Given the description of an element on the screen output the (x, y) to click on. 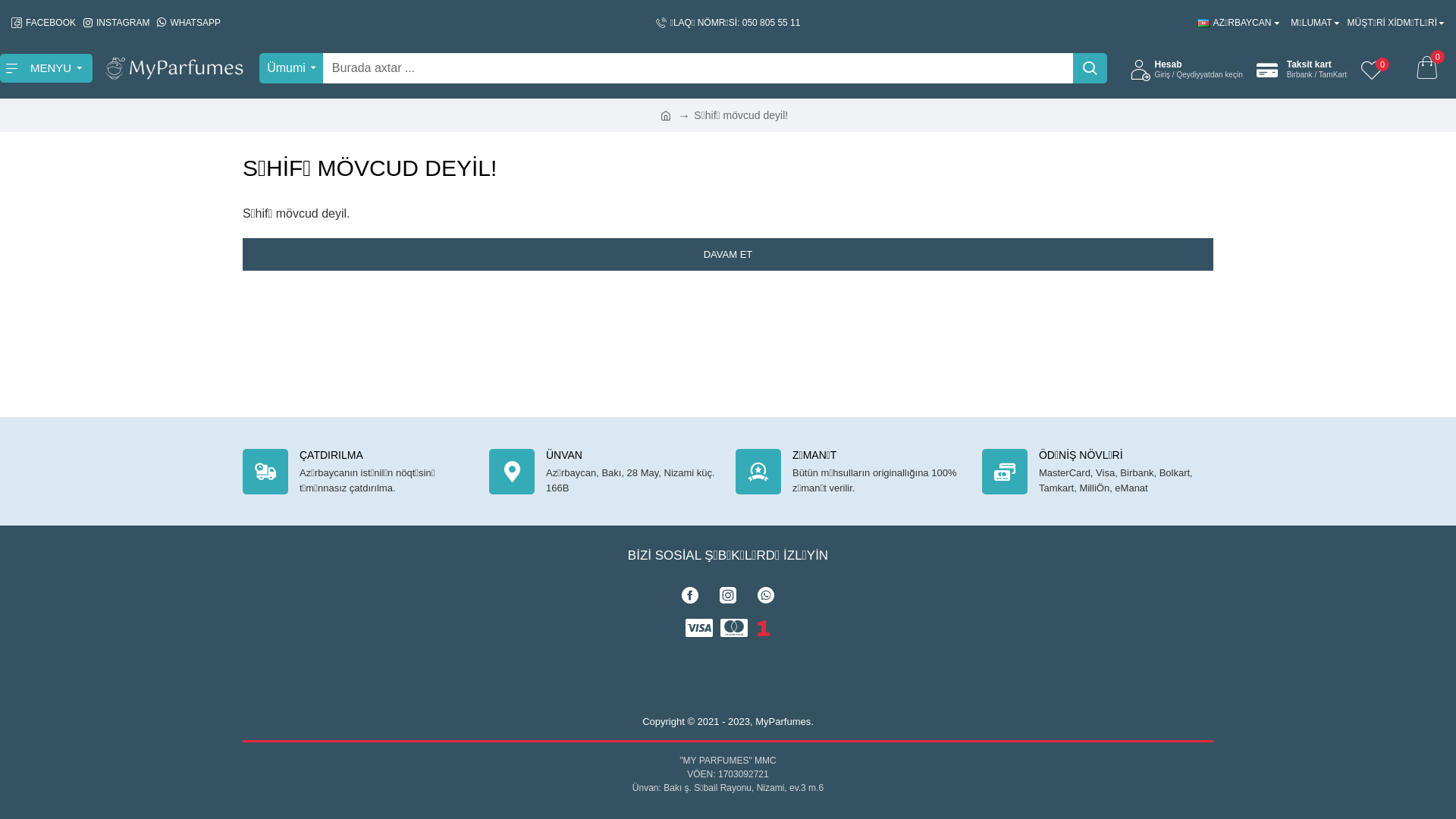
0 Element type: text (1425, 68)
DAVAM ET Element type: text (727, 254)
0 Element type: text (1376, 67)
MENYU Element type: text (46, 68)
WHATSAPP Element type: text (188, 22)
MyParfumes Element type: hover (173, 67)
FACEBOOK Element type: text (43, 22)
Taksit kart
Birbank / TamKart Element type: text (1301, 67)
INSTAGRAM Element type: text (116, 22)
